Given the description of an element on the screen output the (x, y) to click on. 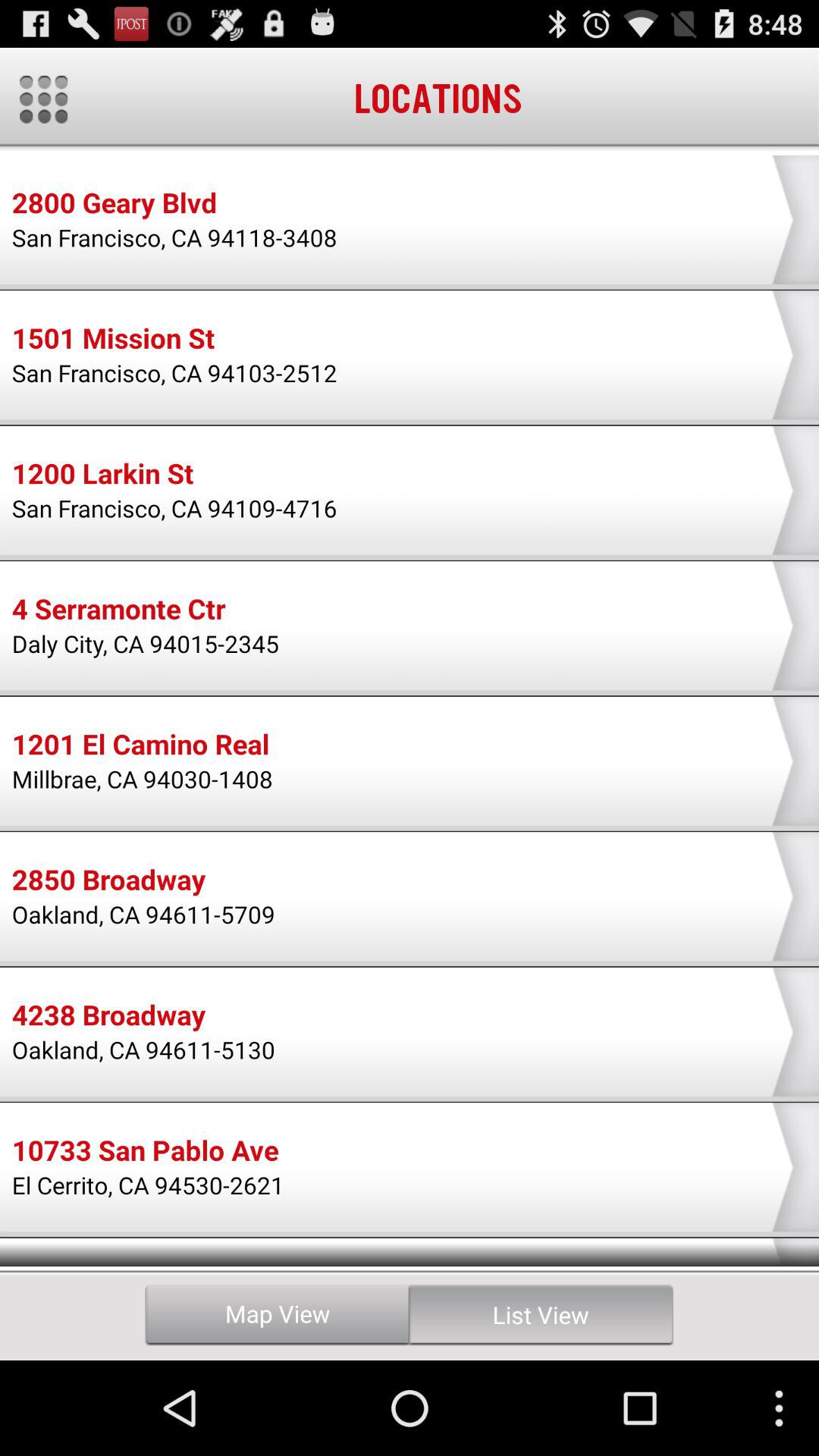
flip until the 2850 broadway app (108, 882)
